Given the description of an element on the screen output the (x, y) to click on. 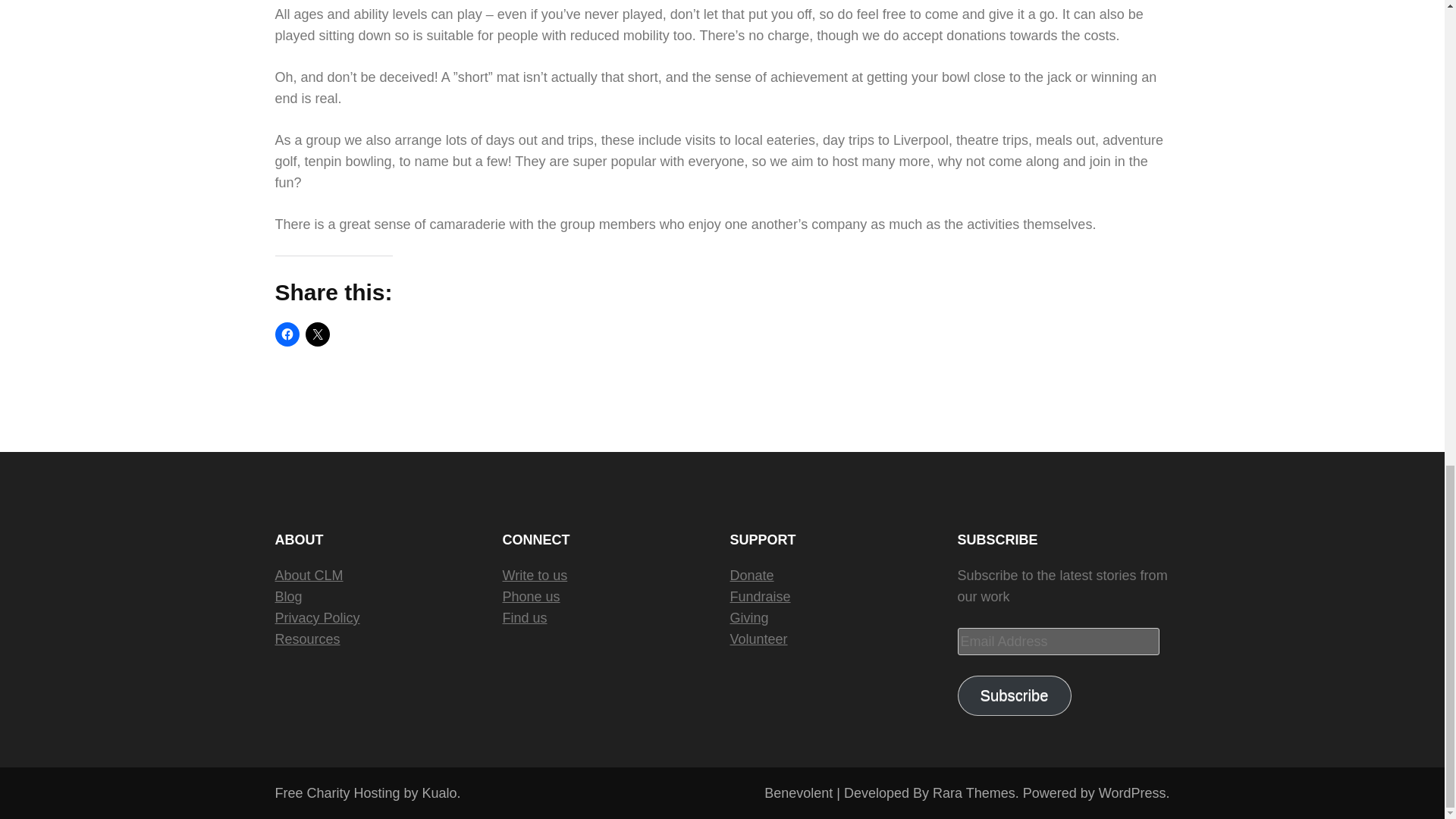
Free Charity Hosting (366, 792)
Click to share on Facebook (286, 334)
Click to share on X (316, 334)
